Given the description of an element on the screen output the (x, y) to click on. 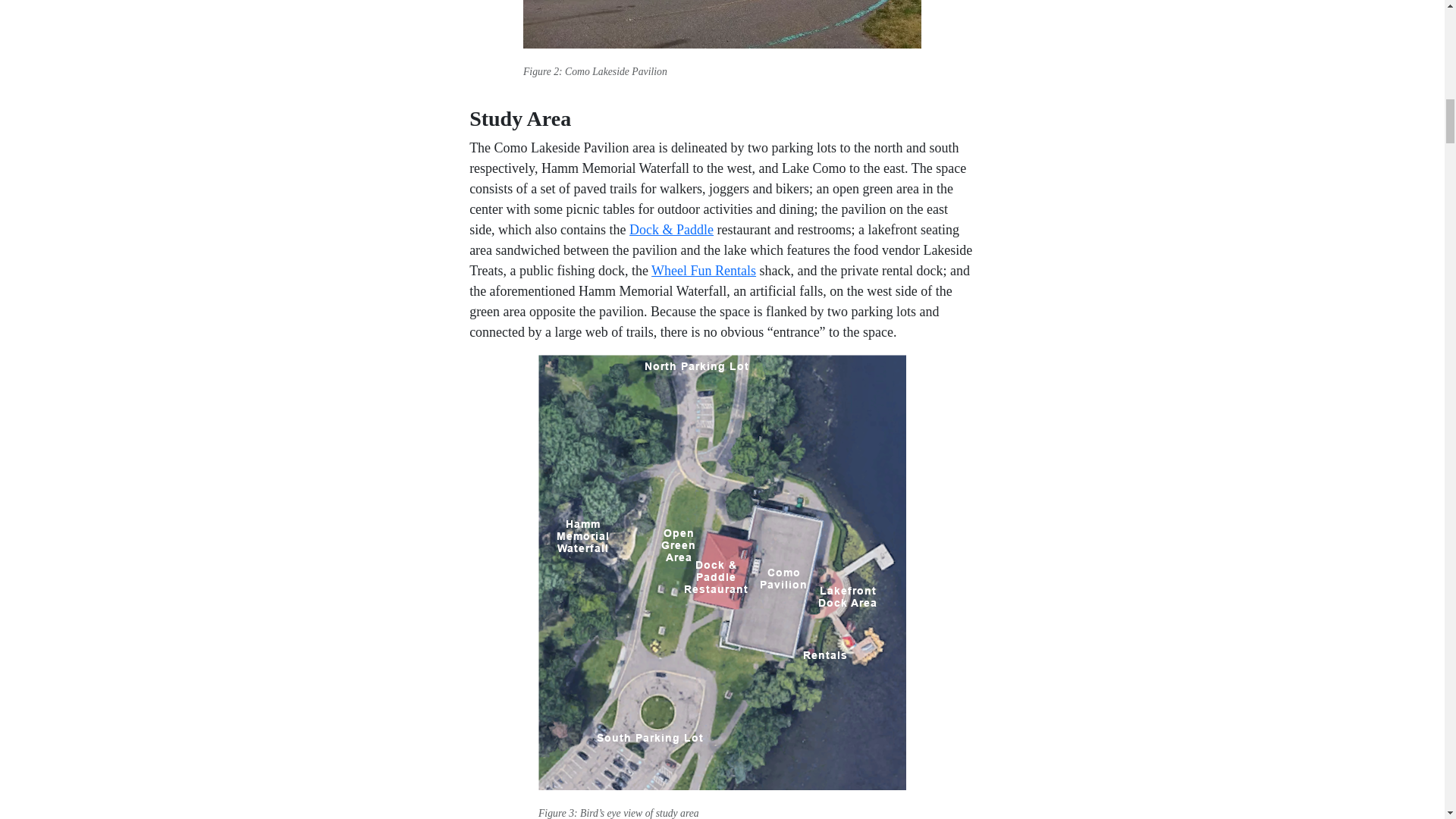
Wheel Fun Rentals (702, 269)
